Given the description of an element on the screen output the (x, y) to click on. 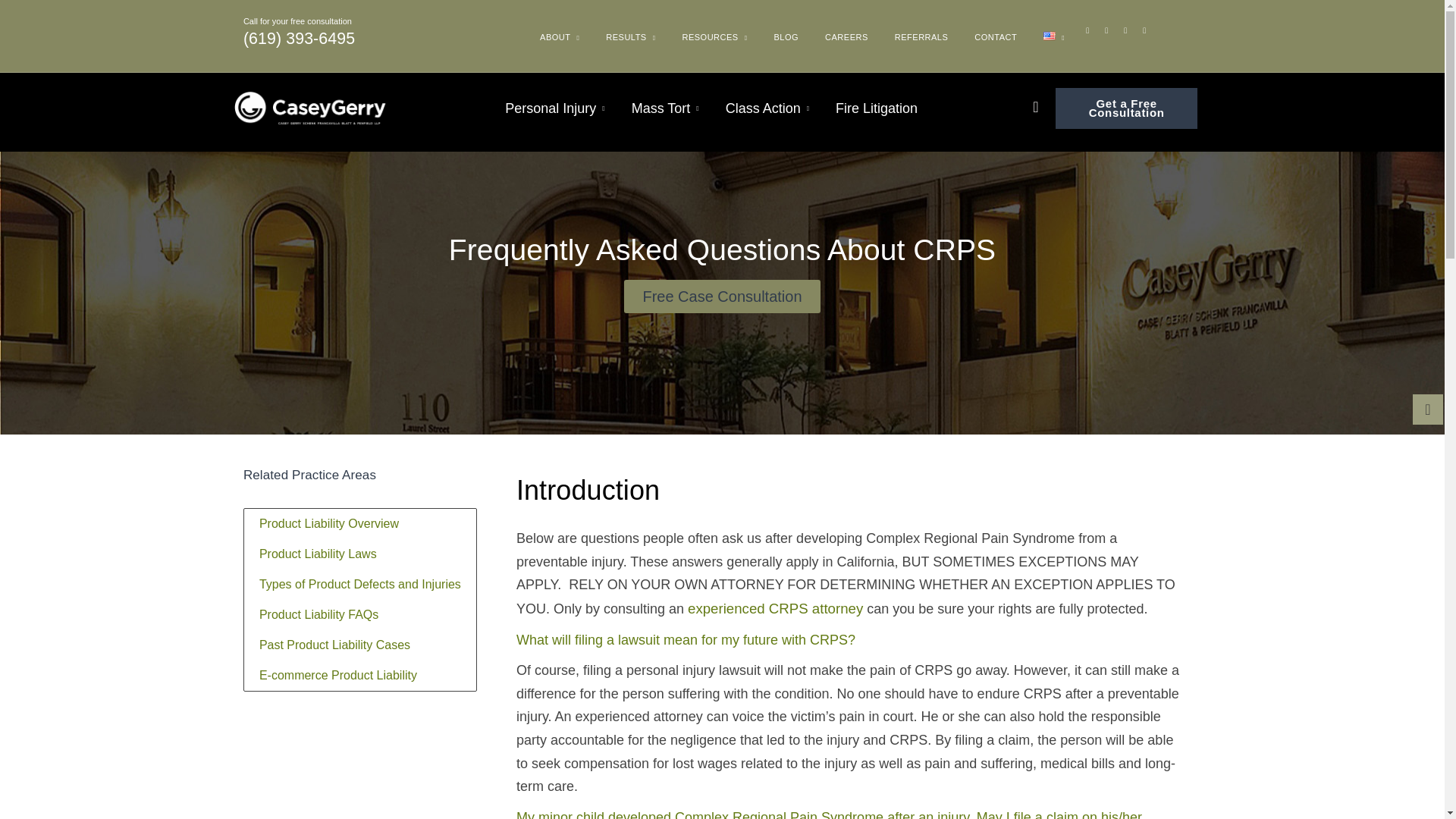
ABOUT (559, 42)
RESULTS (630, 42)
BLOG (786, 37)
RESOURCES (714, 42)
CONTACT (995, 37)
CAREERS (846, 37)
Personal Injury (554, 108)
REFERRALS (921, 37)
